Given the description of an element on the screen output the (x, y) to click on. 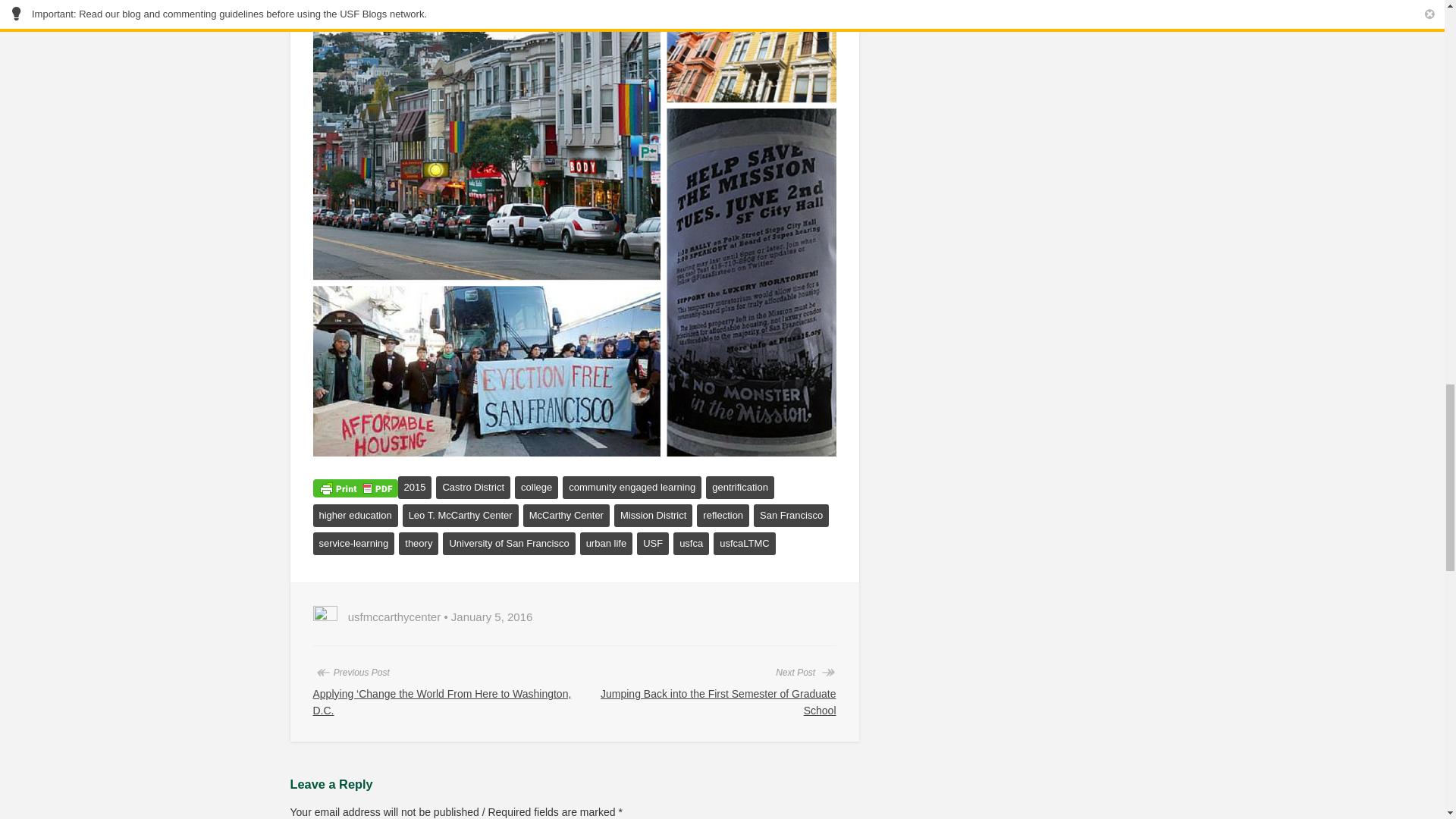
reflection (723, 515)
Mission District (653, 515)
Leo T. McCarthy Center (460, 515)
Castro District (473, 486)
Jumping Back into the First Semester of Graduate School (717, 701)
San Francisco (791, 515)
usfcaLTMC (744, 543)
2015 (413, 486)
theory (418, 543)
higher education (355, 515)
